Given the description of an element on the screen output the (x, y) to click on. 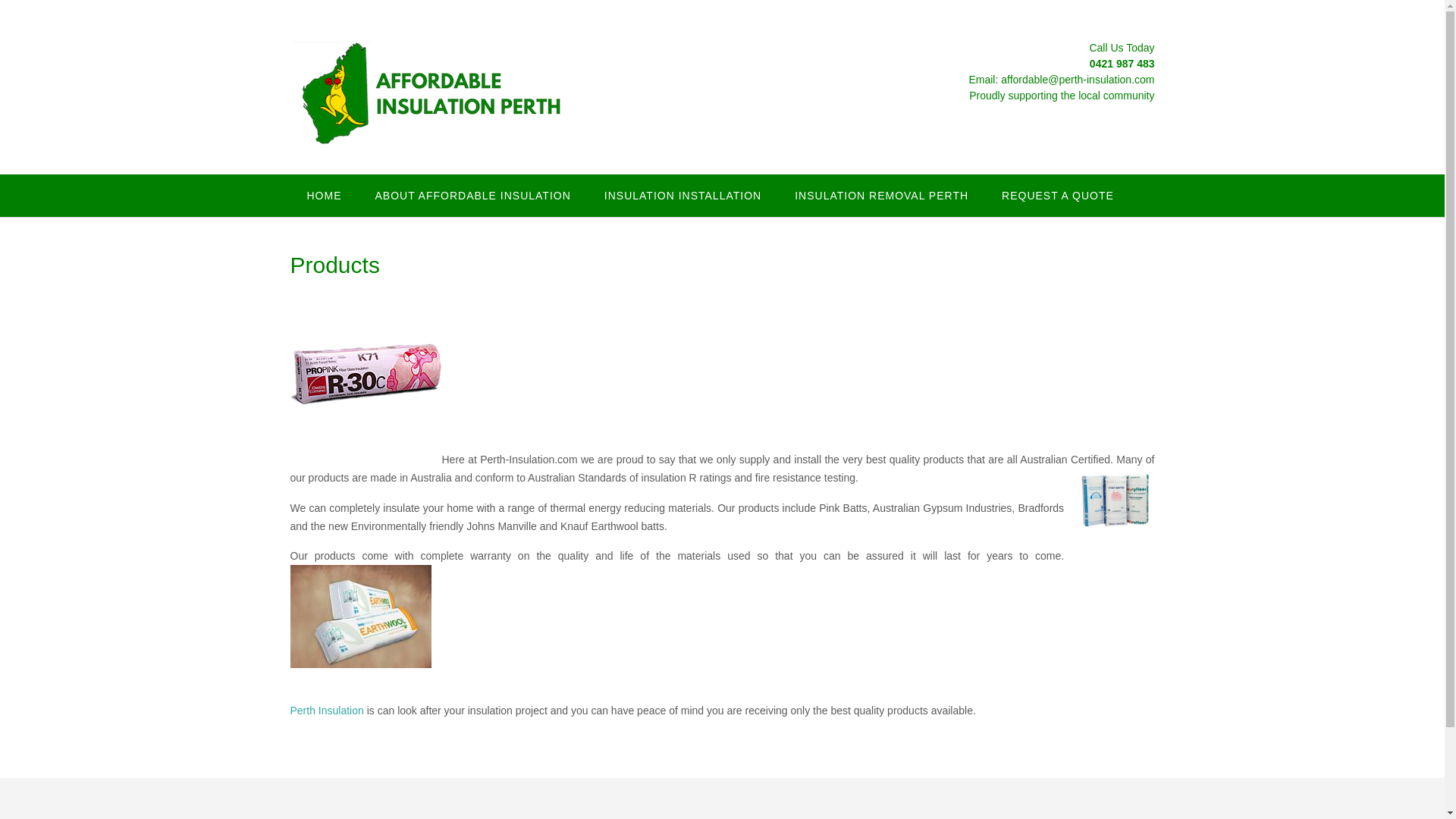
Perth Insulation (325, 710)
Perth Insulation (359, 680)
Perth Insulation (325, 710)
0421 987 483 (1121, 63)
INSULATION INSTALLATION (682, 195)
Knauf Earthwool (359, 616)
Poly Batts (1114, 500)
INSULATION REMOVAL PERTH (881, 195)
REQUEST A QUOTE (1058, 195)
Pink Batts Insulation (365, 371)
HOME (323, 195)
ABOUT AFFORDABLE INSULATION (472, 195)
